Given the description of an element on the screen output the (x, y) to click on. 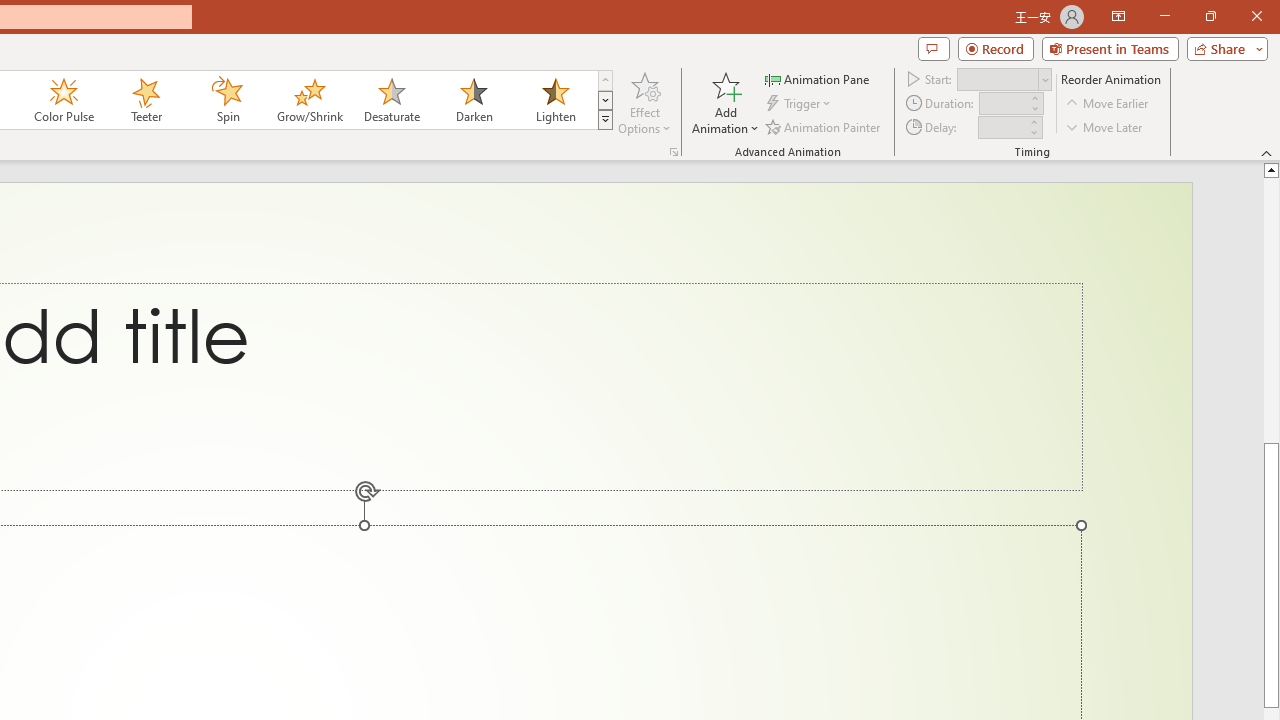
Move Later (1105, 126)
Animation Pane (818, 78)
Color Pulse (63, 100)
Darken (473, 100)
Animation Duration (1003, 103)
Animation Painter (824, 126)
